Given the description of an element on the screen output the (x, y) to click on. 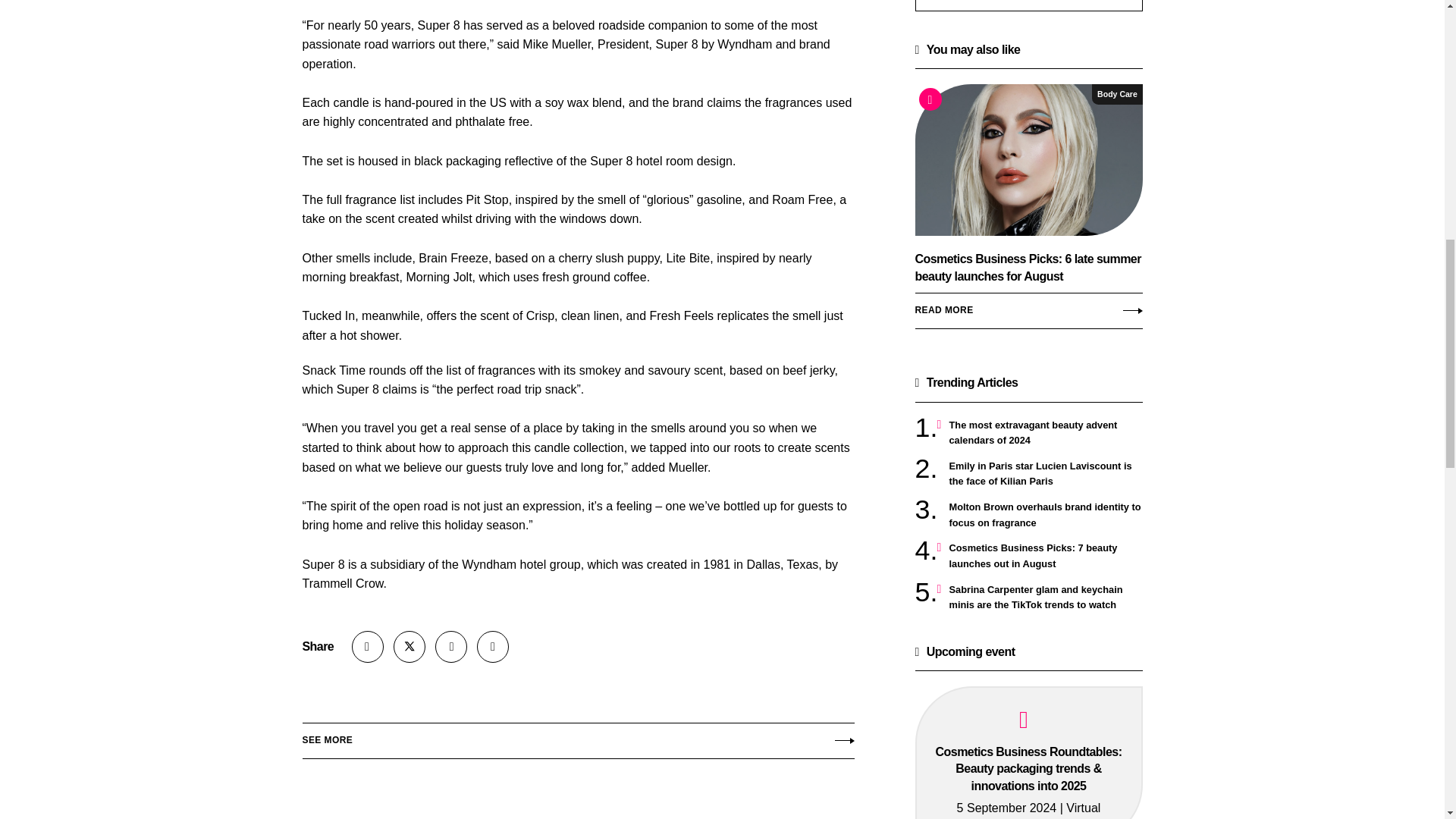
Follow Cosmetics Business on LinkedIn (451, 646)
Share this article (368, 646)
Follow Cosmetics Business on X (409, 646)
LinkedIn (451, 646)
Facebook (492, 646)
X (409, 646)
SEE MORE (577, 736)
Share (368, 646)
